Given the description of an element on the screen output the (x, y) to click on. 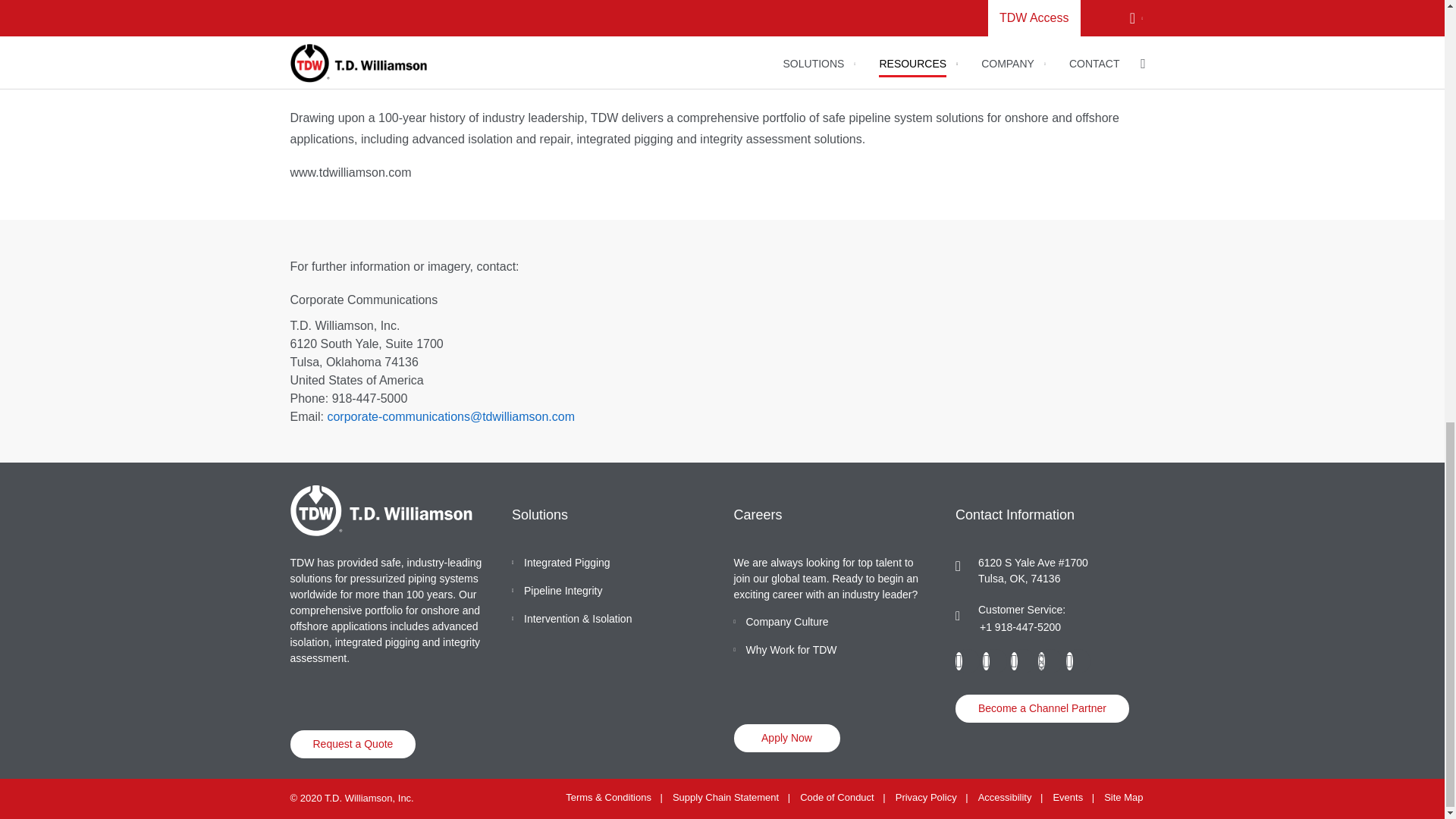
T.D. Williamson (380, 510)
